Given the description of an element on the screen output the (x, y) to click on. 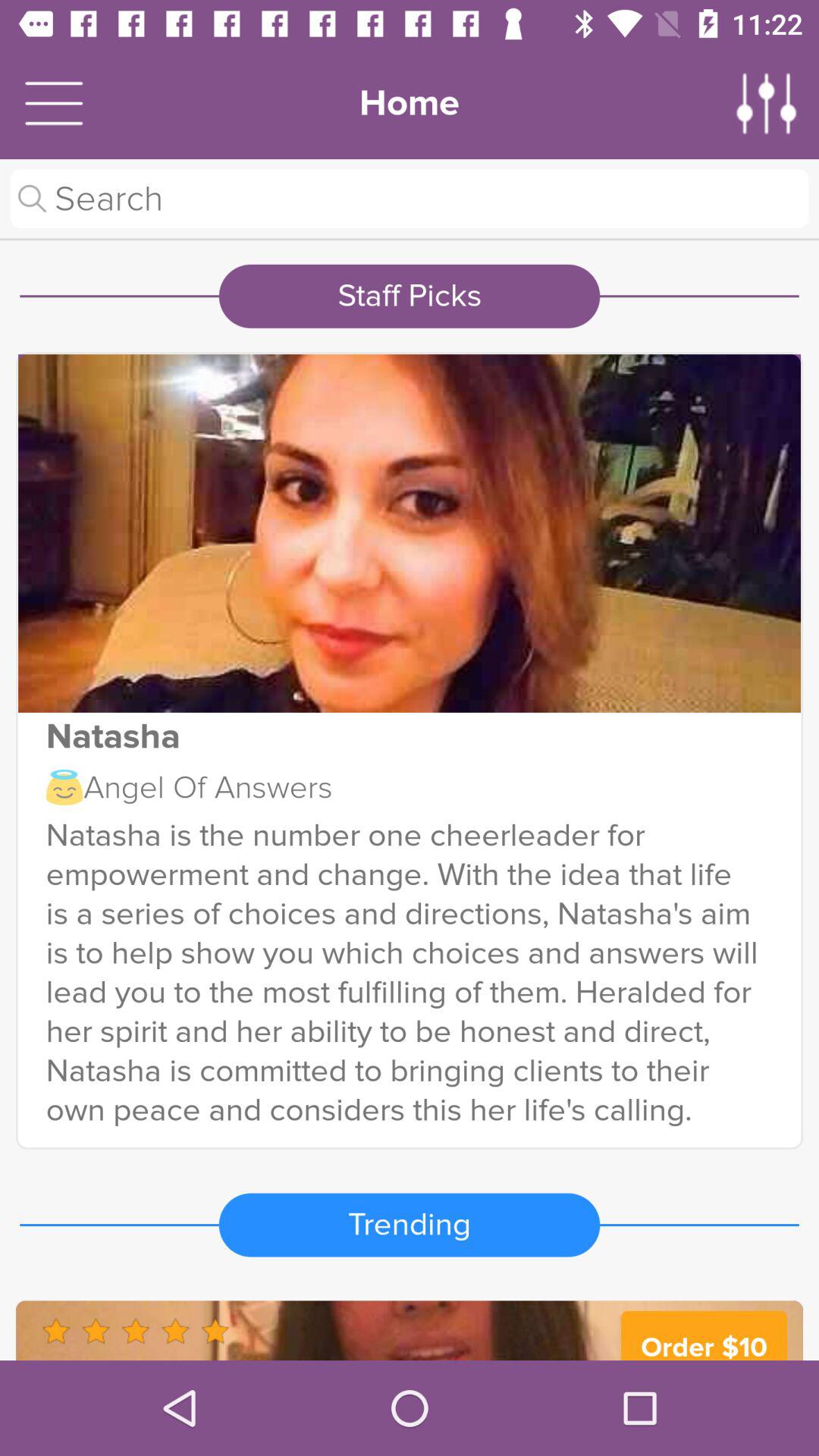
purchase button (409, 1330)
